Given the description of an element on the screen output the (x, y) to click on. 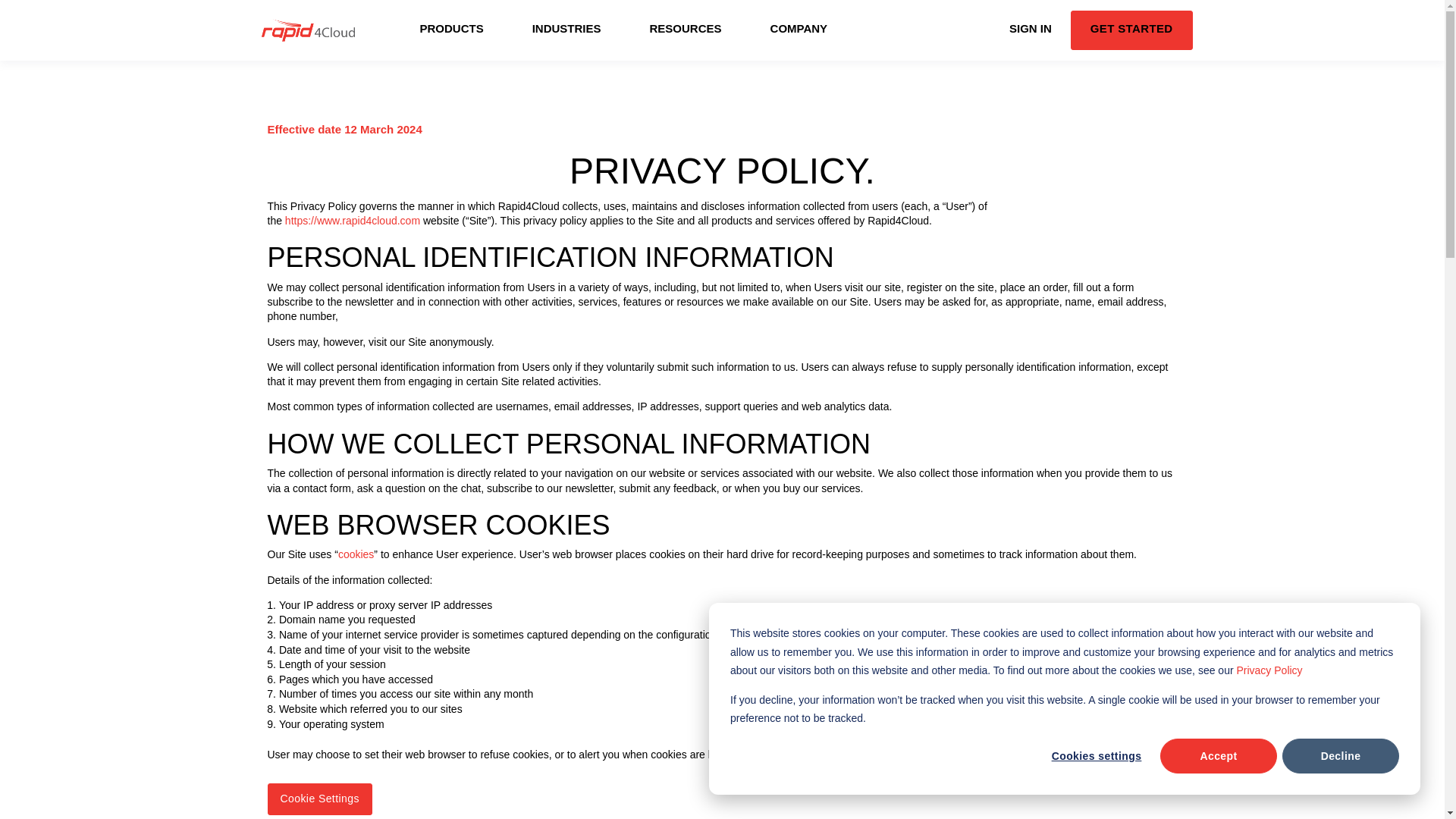
PRODUCTS (451, 30)
RESOURCES (685, 30)
INDUSTRIES (566, 30)
